Given the description of an element on the screen output the (x, y) to click on. 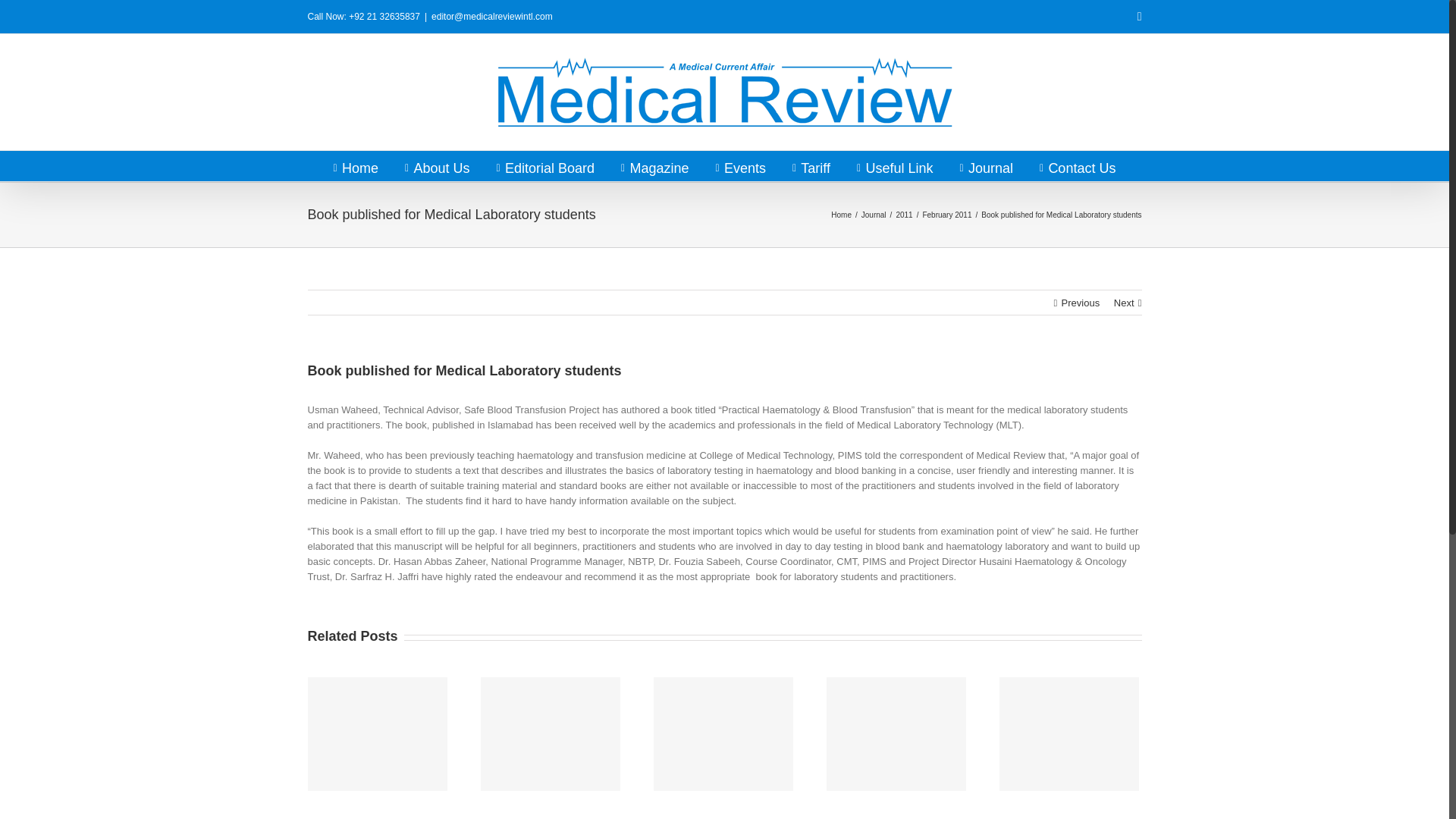
Facebook (1139, 16)
Journal (985, 165)
Home (355, 165)
Previous (1080, 303)
Journal (873, 214)
Magazine (654, 165)
Home (841, 214)
Contact Us (1077, 165)
February 2011 (946, 214)
2011 (903, 214)
Tariff (810, 165)
Next (1123, 303)
About Us (436, 165)
Events (739, 165)
Useful Link (895, 165)
